Given the description of an element on the screen output the (x, y) to click on. 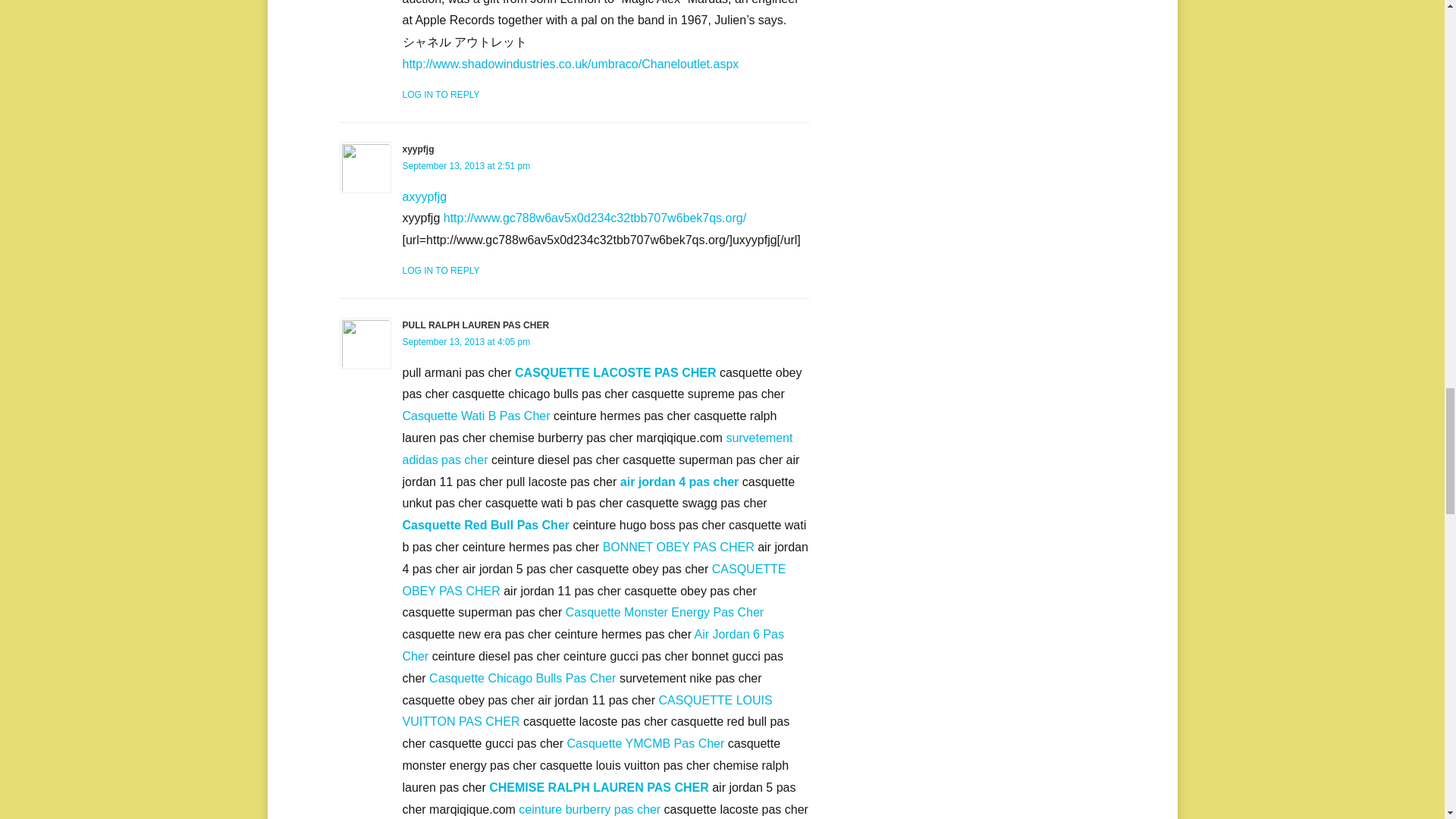
Casquette Red Bull Pas Cher (485, 524)
survetement adidas pas cher (596, 448)
Casquette Monster Energy Pas Cher (664, 612)
CASQUETTE LACOSTE PAS CHER (615, 372)
xyypfjg (417, 149)
September 13, 2013 at 2:51 pm (465, 165)
BONNET OBEY PAS CHER (678, 546)
Casquette Wati B Pas Cher (475, 415)
axyypfjg (423, 195)
PULL RALPH LAUREN PAS CHER (474, 325)
air jordan 4 pas cher (679, 481)
LOG IN TO REPLY (440, 270)
CASQUETTE OBEY PAS CHER (593, 579)
September 13, 2013 at 4:05 pm (465, 341)
LOG IN TO REPLY (440, 94)
